Given the description of an element on the screen output the (x, y) to click on. 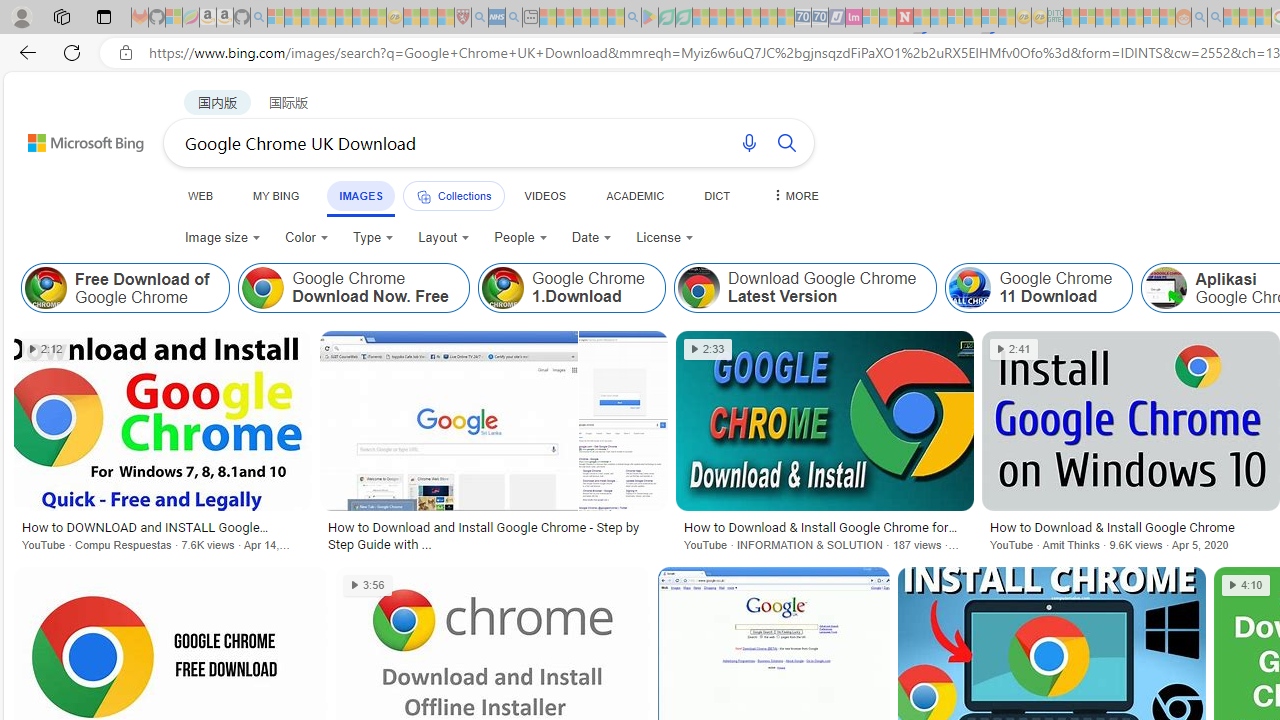
How to Download & Install Google Chrome (1130, 527)
MY BING (276, 195)
License (664, 237)
Class: item col (1039, 287)
Image result for Google Chrome UK Download (1130, 421)
Search using voice (748, 142)
